Given the description of an element on the screen output the (x, y) to click on. 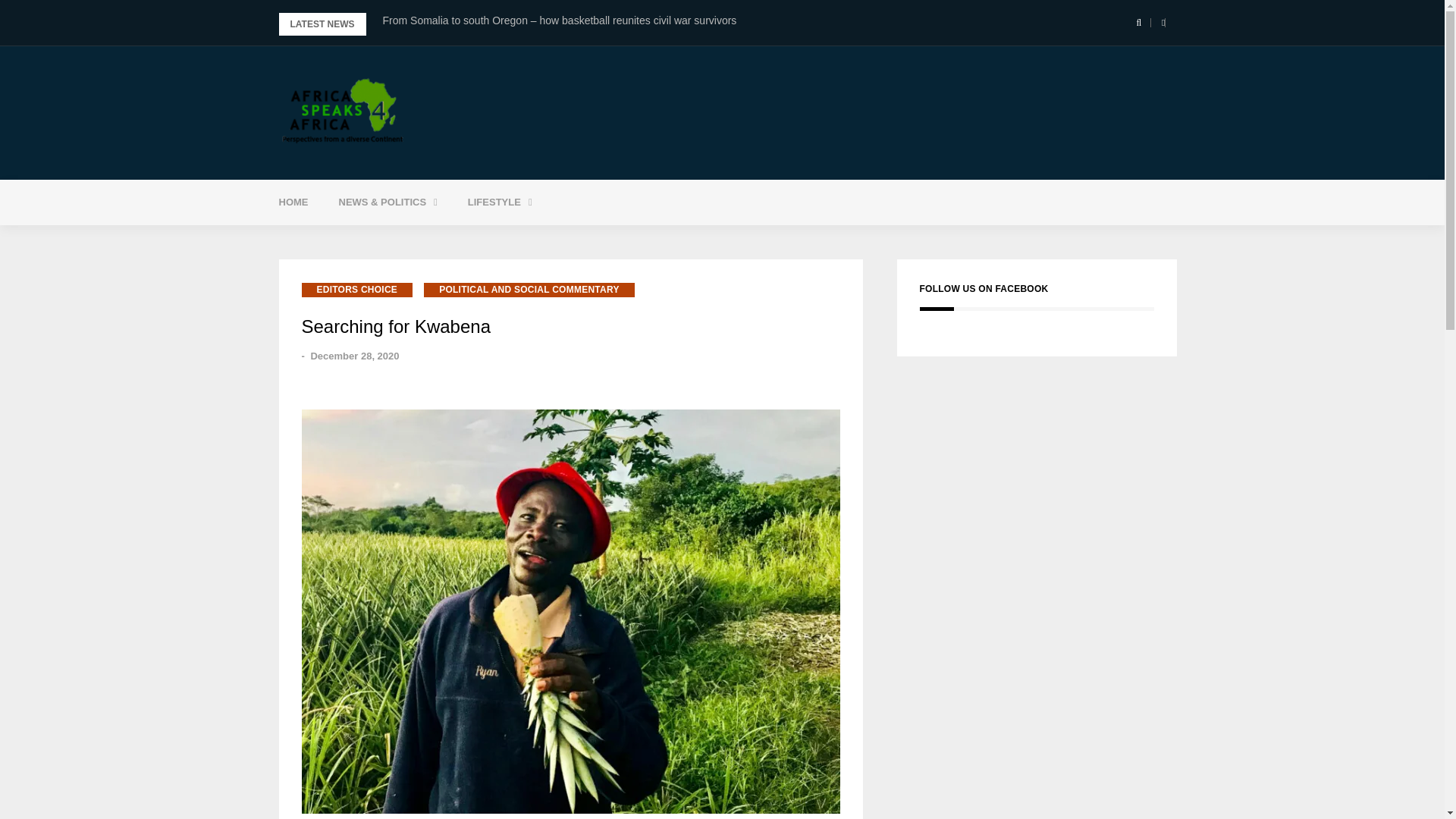
POLITICAL AND SOCIAL COMMENTARY (528, 289)
In The News (425, 240)
Home (293, 202)
In The News (425, 240)
Lifestyle (499, 202)
EDITORS CHOICE (357, 289)
December 28, 2020 (354, 355)
HOME (293, 202)
LIFESTYLE (499, 202)
